Given the description of an element on the screen output the (x, y) to click on. 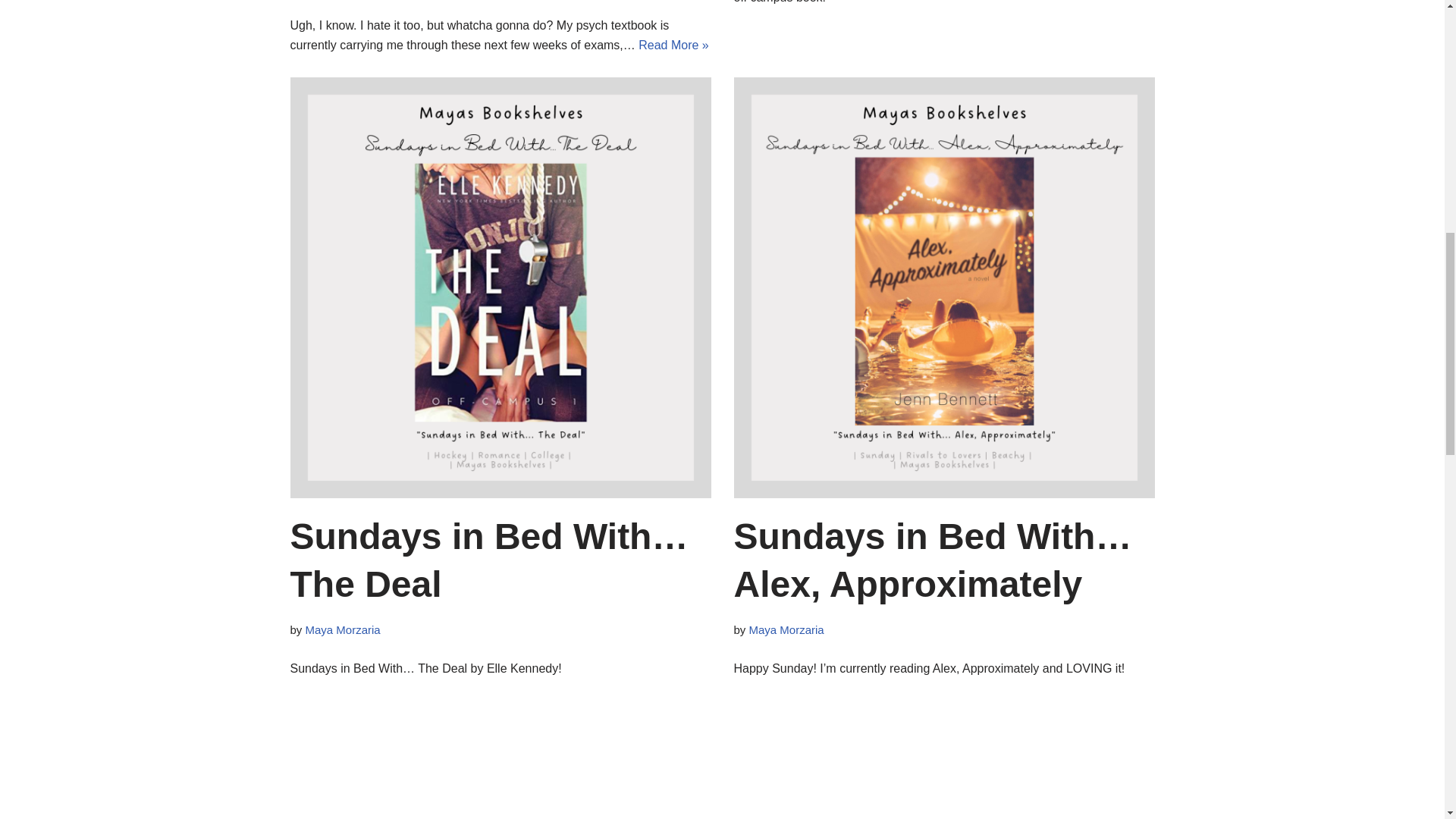
Posts by Maya Morzaria (342, 629)
Maya Morzaria (342, 629)
Posts by Maya Morzaria (786, 629)
